Given the description of an element on the screen output the (x, y) to click on. 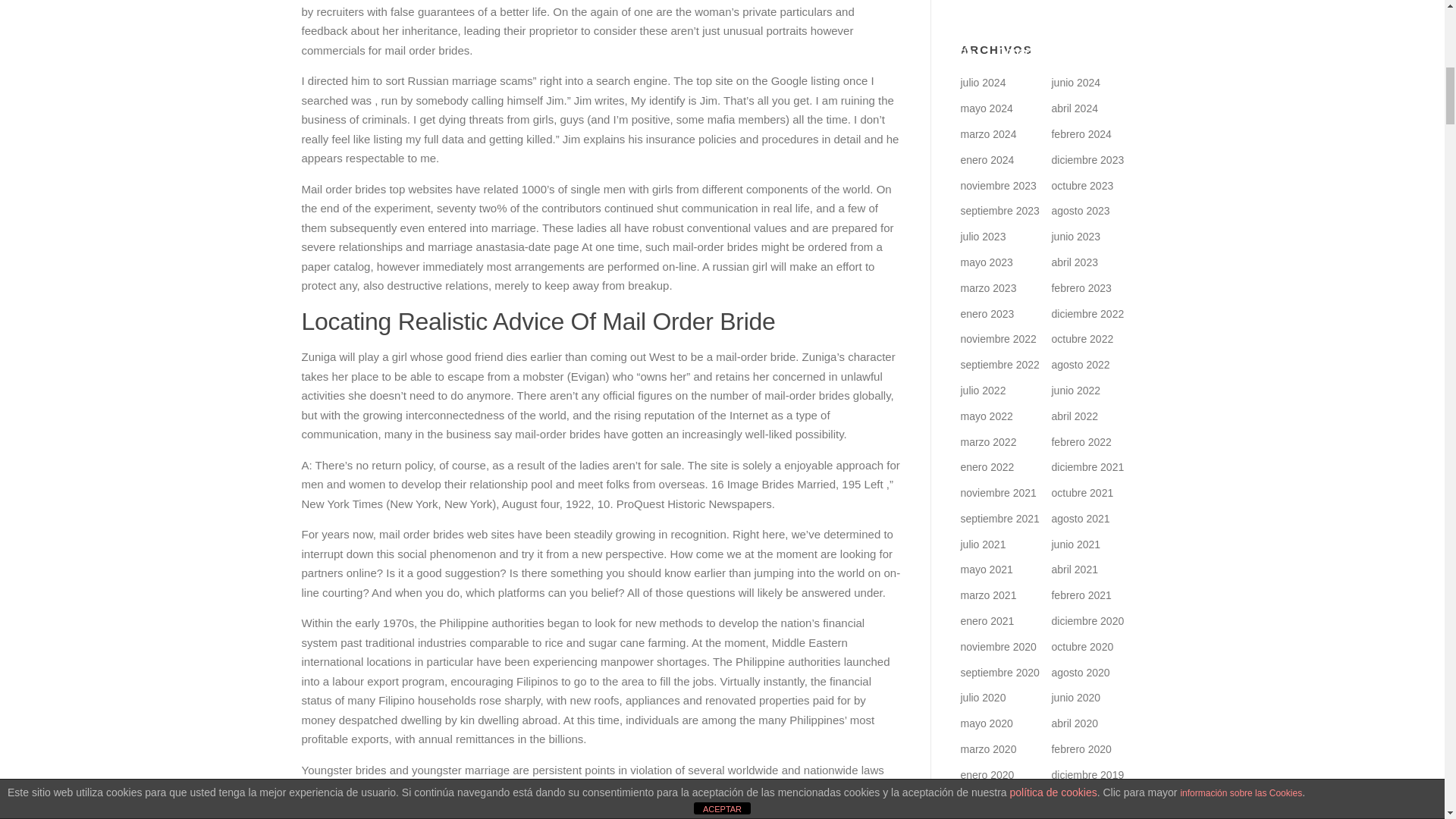
marzo 2024 (987, 133)
marzo 2023 (987, 287)
mayo 2023 (985, 262)
octubre 2023 (1082, 185)
junio 2024 (1075, 82)
enero 2024 (986, 159)
agosto 2023 (1080, 210)
julio 2024 (982, 82)
febrero 2024 (1080, 133)
mayo 2024 (985, 108)
noviembre 2023 (997, 185)
abril 2024 (1074, 108)
julio 2023 (982, 236)
junio 2023 (1075, 236)
diciembre 2023 (1087, 159)
